Given the description of an element on the screen output the (x, y) to click on. 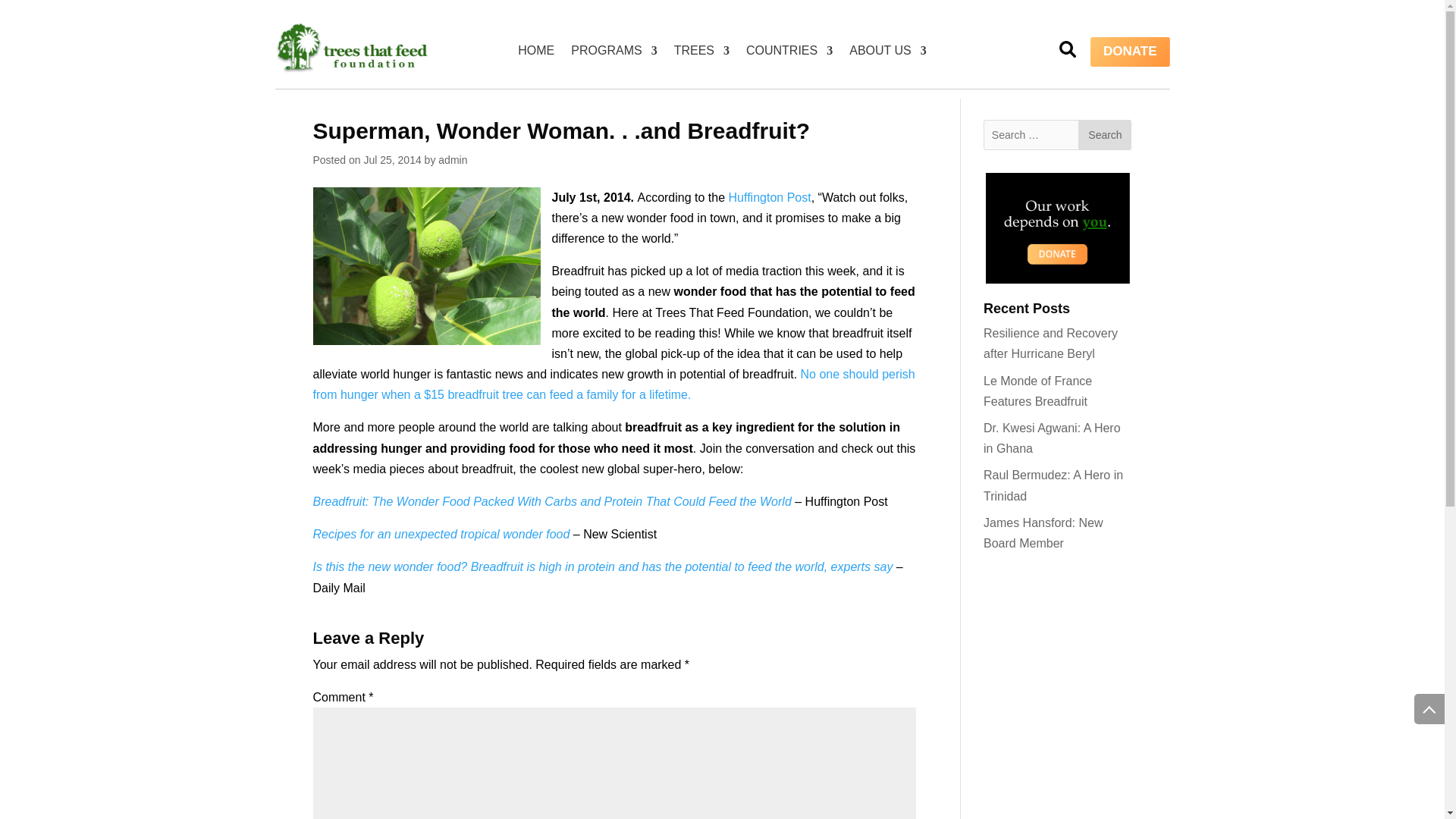
Search (1104, 134)
Search (1104, 134)
TTFF Logo (350, 47)
